Given the description of an element on the screen output the (x, y) to click on. 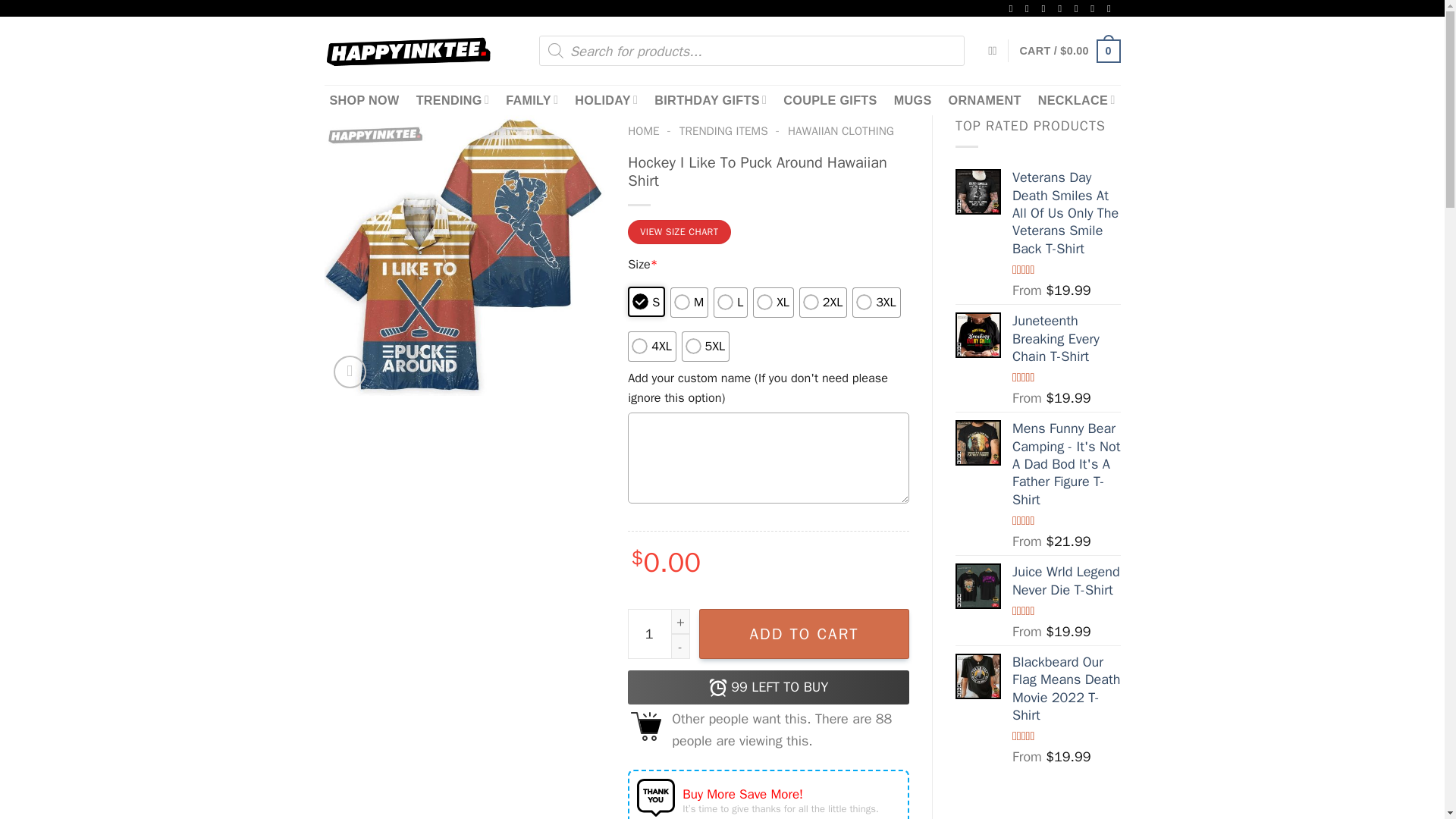
Follow on Pinterest (1079, 8)
SHOP NOW (363, 99)
Send us an email (1063, 8)
Follow on Twitter (1047, 8)
Follow on Instagram (1030, 8)
FAMILY (531, 99)
1 (658, 634)
Juice Wrld Legend Never Die T-Shirt (978, 586)
